Given the description of an element on the screen output the (x, y) to click on. 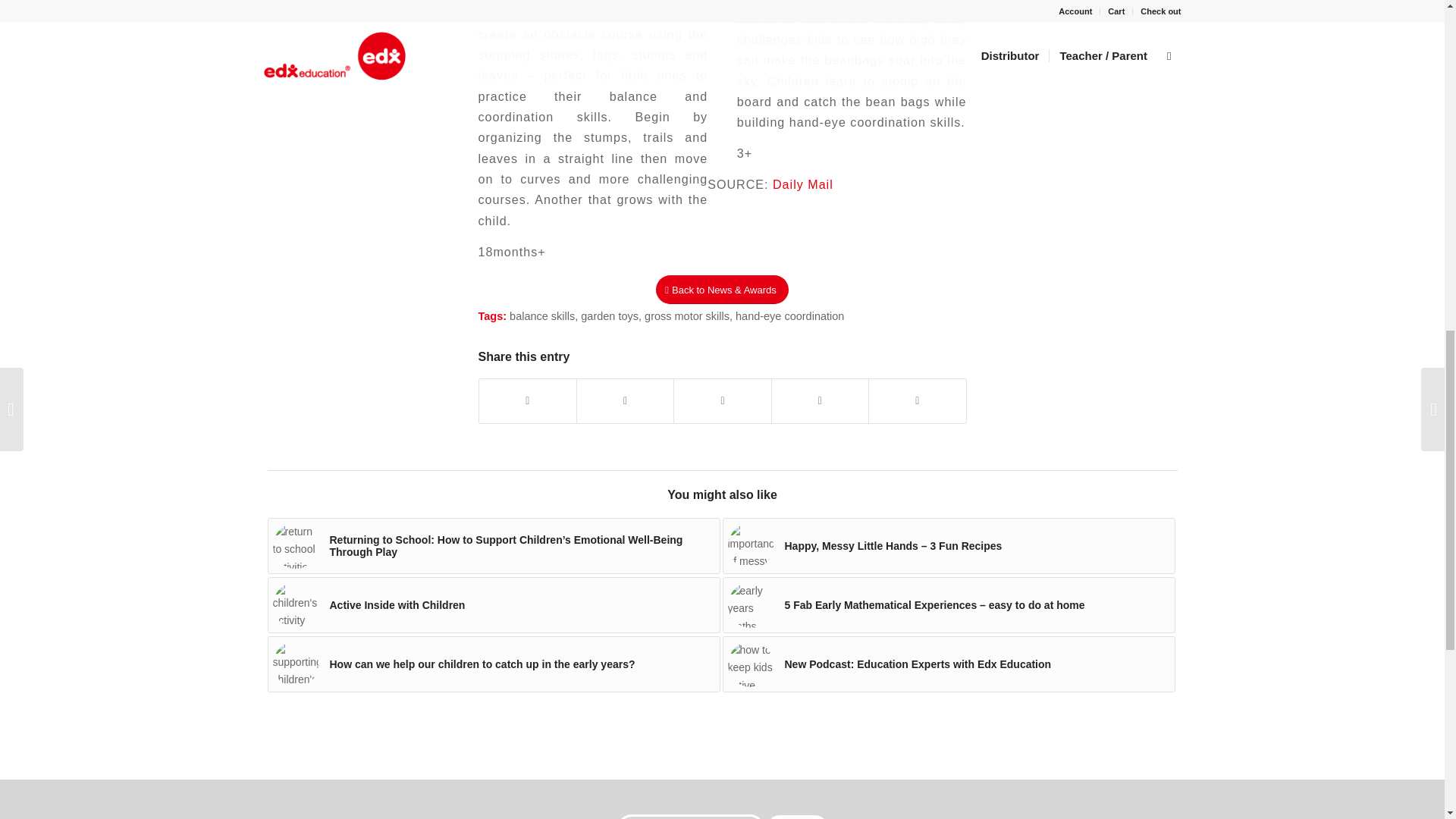
garden toys (609, 316)
gross motor skills (687, 316)
Subscribe (797, 816)
Subscribe (797, 816)
balance skills (542, 316)
Daily Mail (802, 183)
New Podcast: Education Experts with Edx Education (948, 664)
How can we help our children to catch up in the early years? (492, 664)
Active Inside with Children (492, 605)
Active Inside with Children (492, 605)
hand-eye coordination (789, 316)
2021.02 newsletter (295, 545)
